Given the description of an element on the screen output the (x, y) to click on. 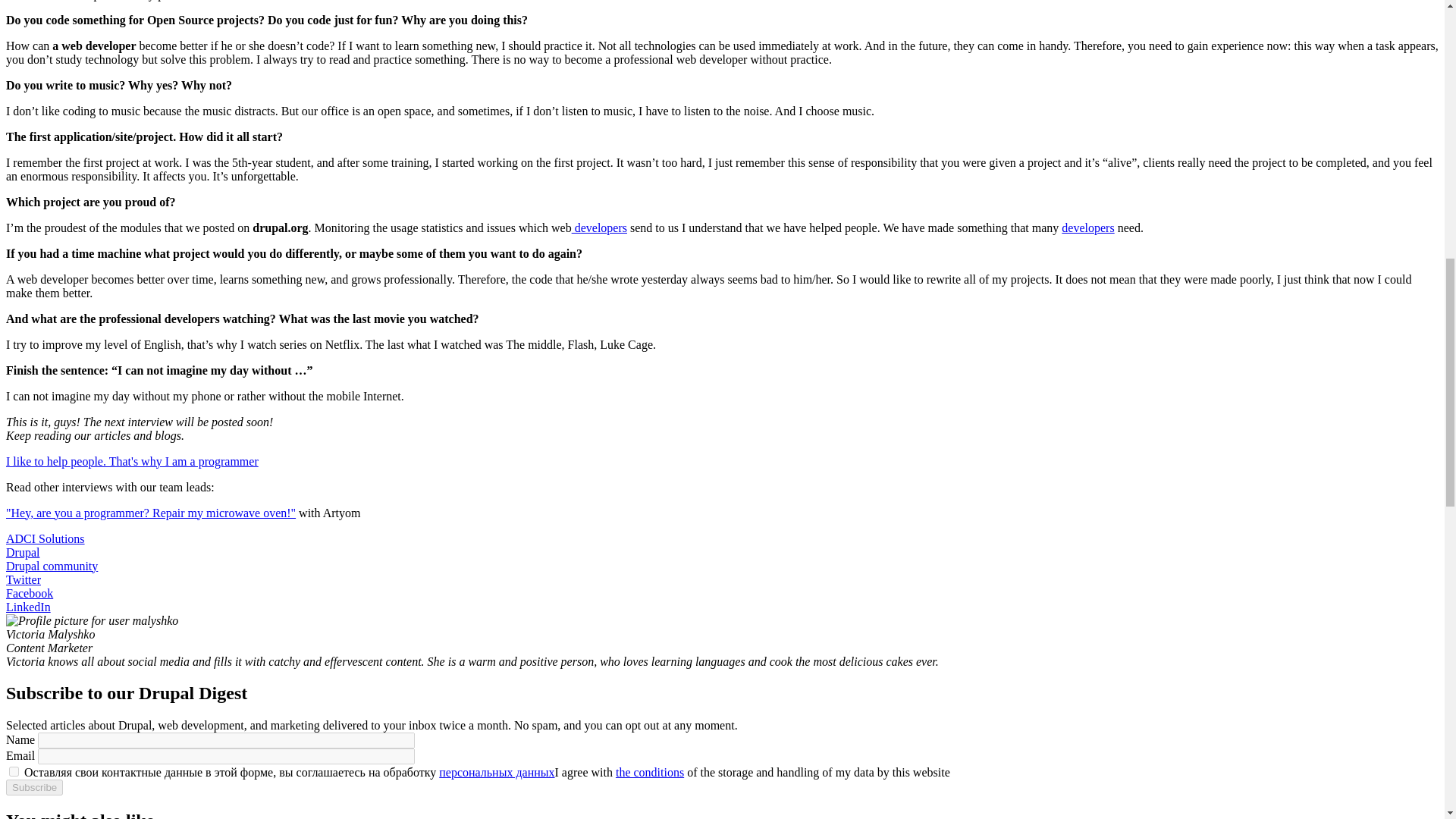
Drupal community (51, 565)
Facebook (28, 593)
Drupal (22, 552)
developers (599, 227)
ADCI Solutions (44, 538)
the conditions (649, 771)
I like to help people. That's why I am a programmer (132, 461)
developers (1087, 227)
Twitter (22, 579)
1 (13, 771)
LinkedIn (27, 606)
"Hey, are you a programmer? Repair my microwave oven!" (150, 512)
Subscribe (33, 787)
